Given the description of an element on the screen output the (x, y) to click on. 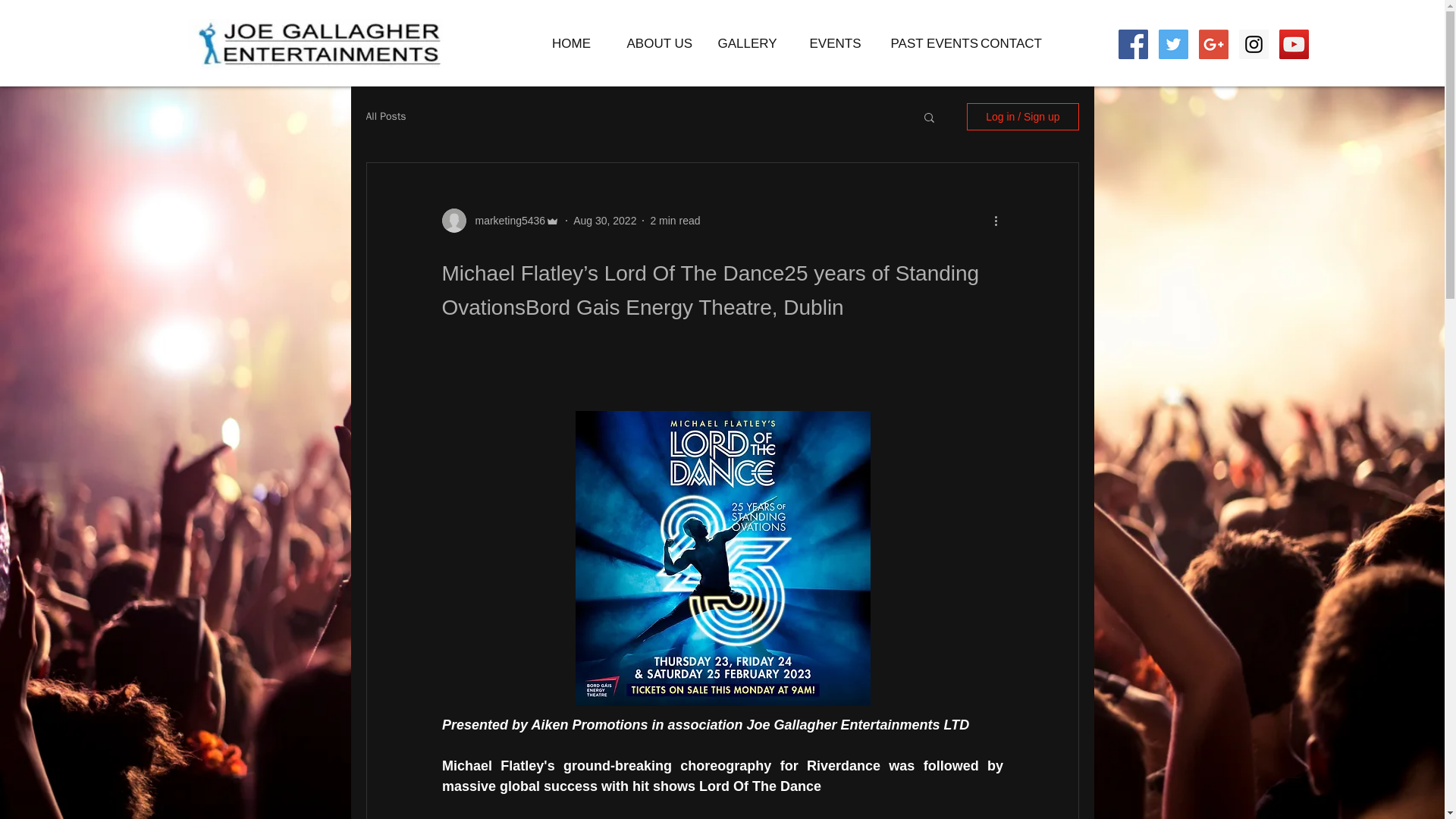
PAST EVENTS (923, 43)
Aug 30, 2022 (604, 219)
CONTACT (1011, 43)
ABOUT US (659, 43)
2 min read (674, 219)
All Posts (385, 116)
EVENTS (835, 43)
Facebook Like (1147, 73)
HOME (571, 43)
marketing5436 (504, 220)
GALLERY (747, 43)
